Given the description of an element on the screen output the (x, y) to click on. 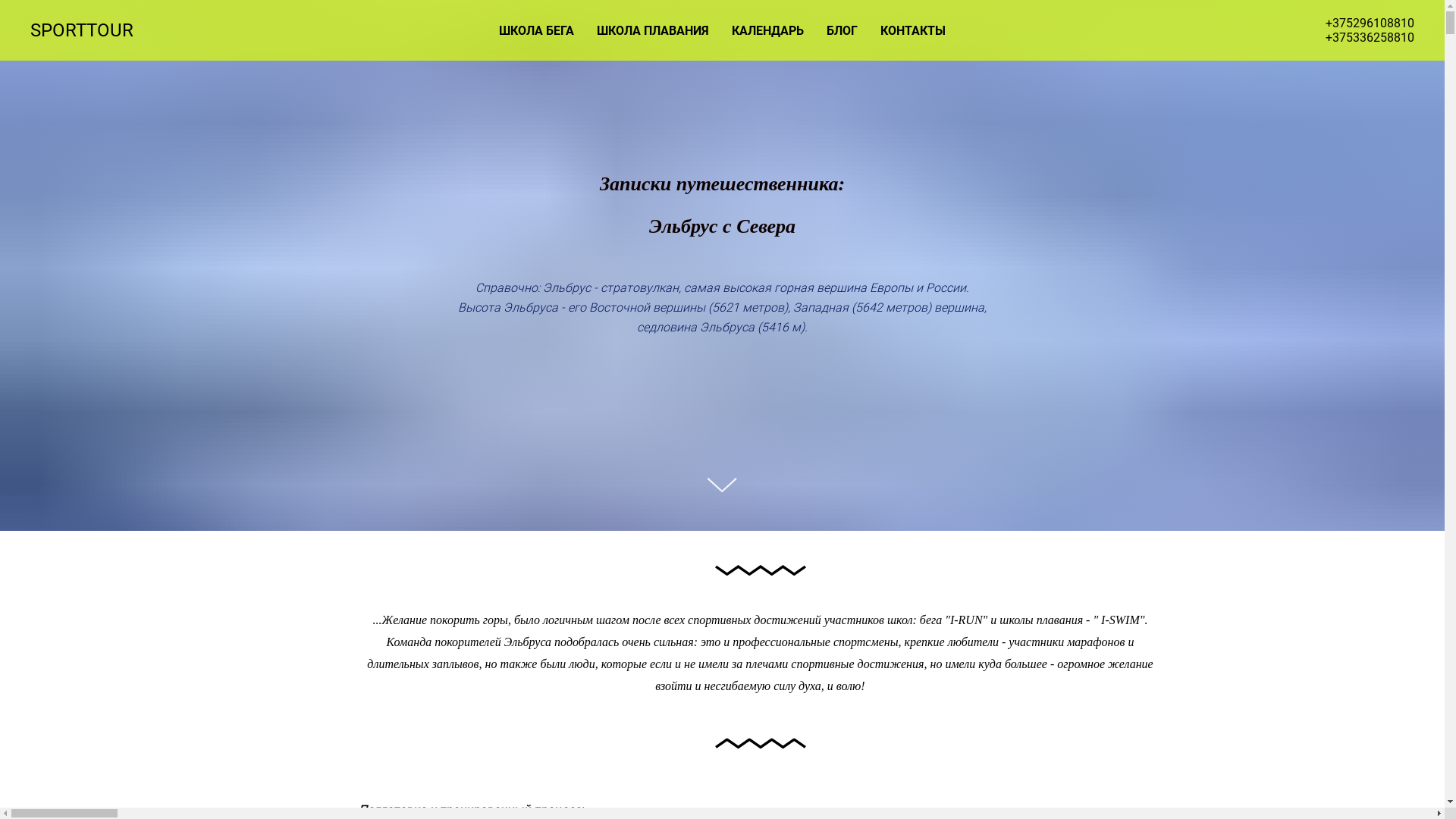
SPORTTOUR Element type: text (93, 29)
